Given the description of an element on the screen output the (x, y) to click on. 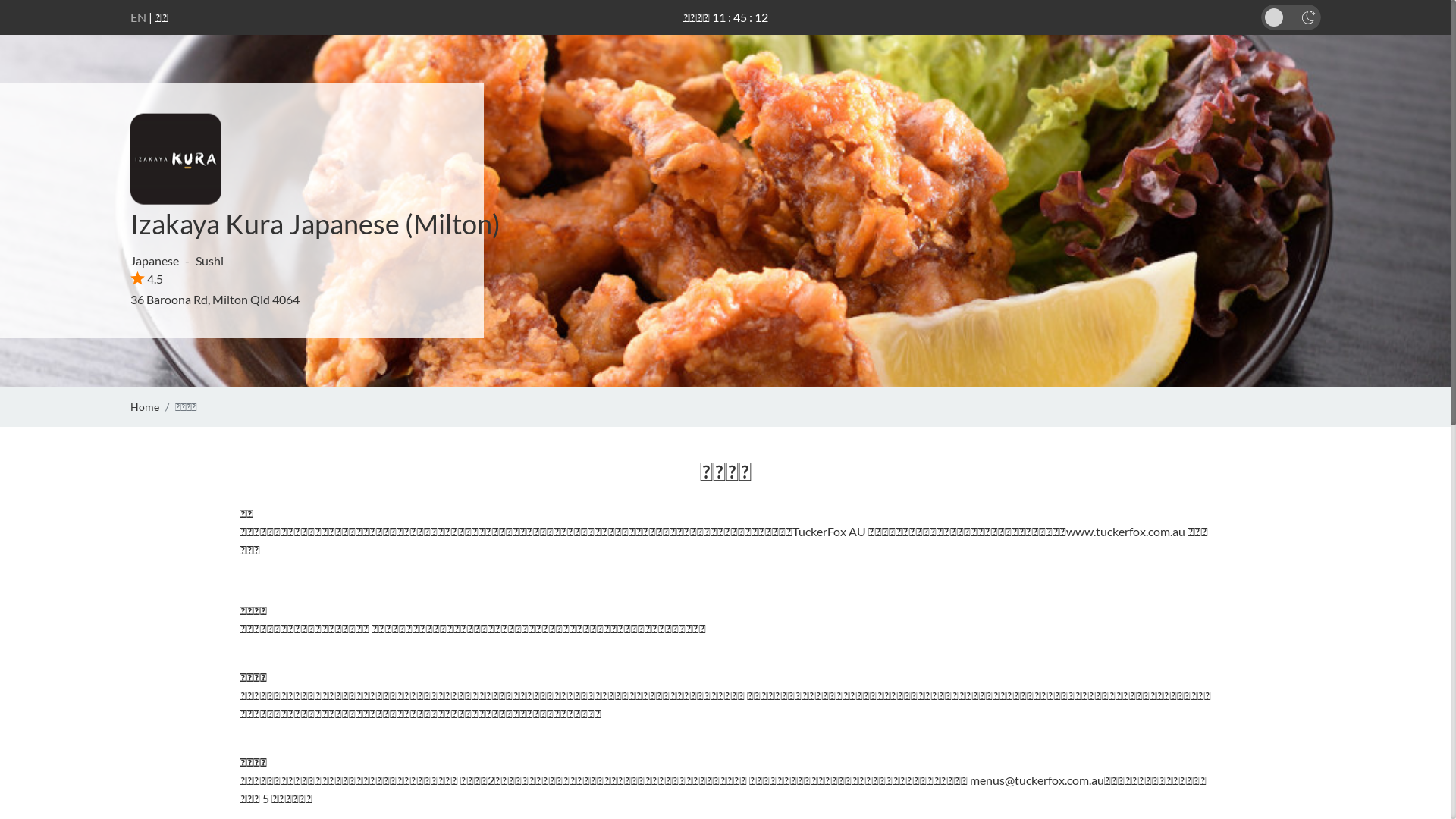
Home Element type: text (144, 406)
4.5 Element type: text (146, 278)
Izakaya Kura Japanese (Milton) Element type: text (315, 223)
EN Element type: text (138, 16)
